Given the description of an element on the screen output the (x, y) to click on. 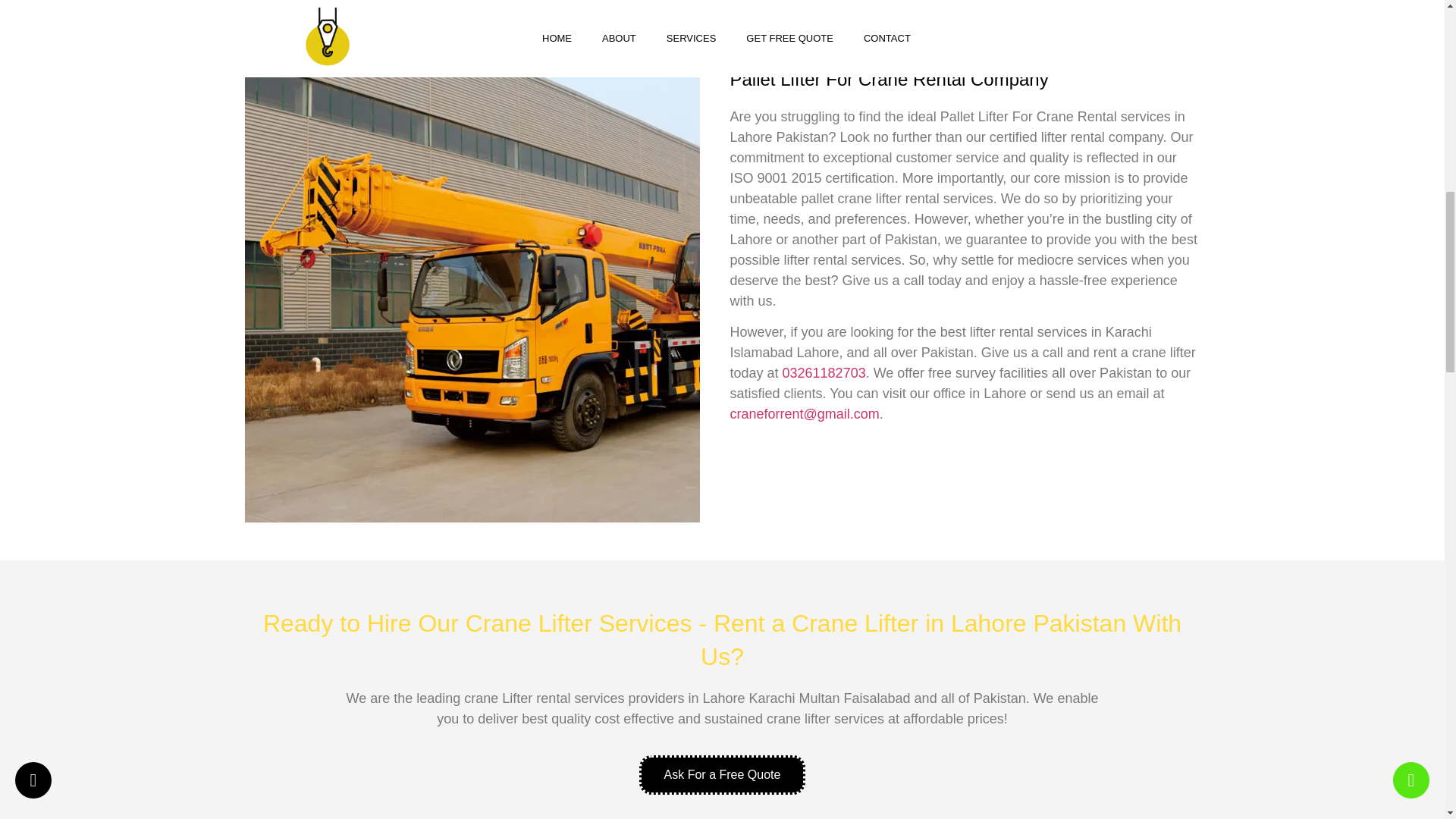
Ask For a Free Quote (722, 774)
03261182703 (824, 372)
